Given the description of an element on the screen output the (x, y) to click on. 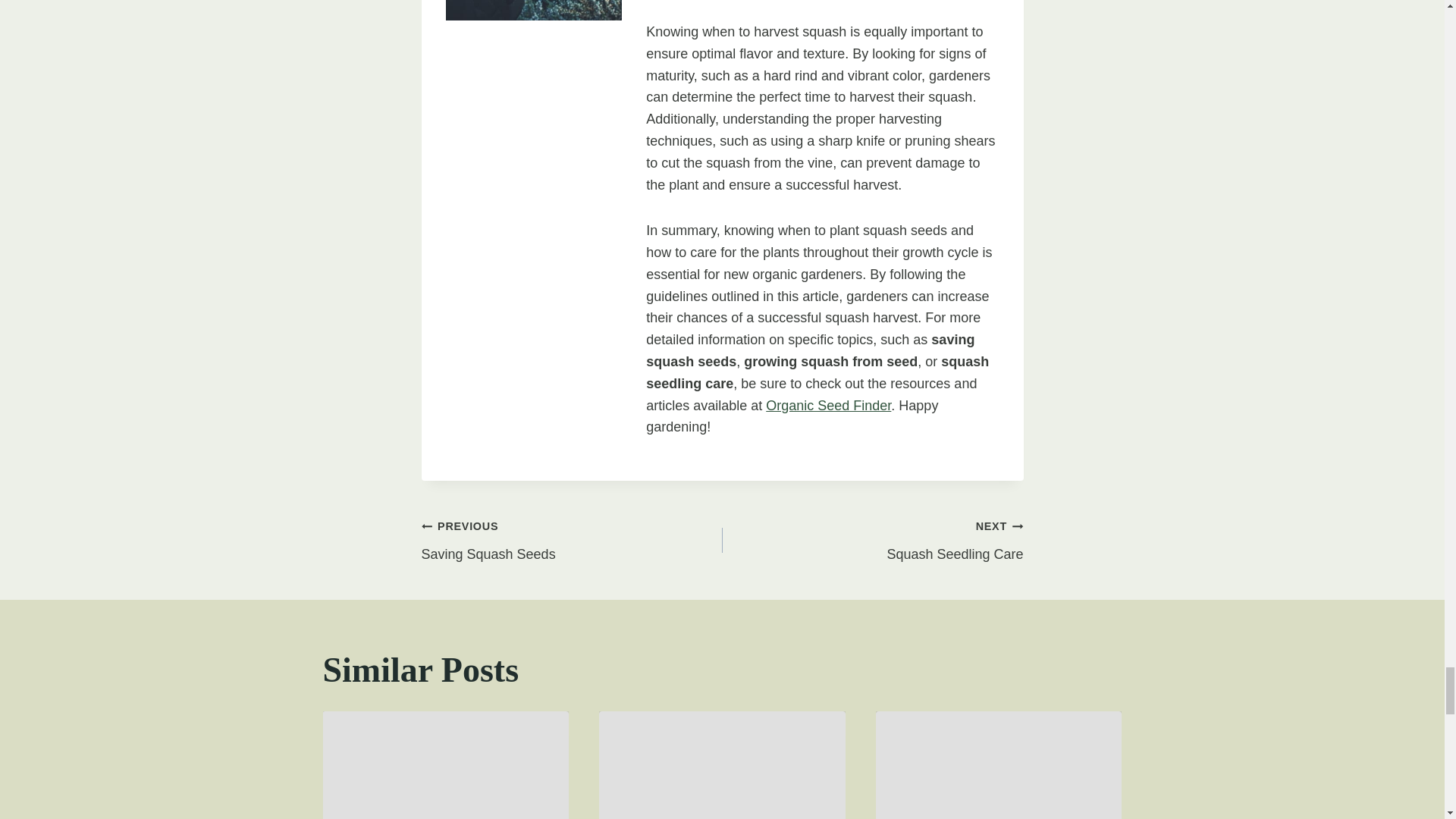
Organic Seed Finder (572, 540)
